Given the description of an element on the screen output the (x, y) to click on. 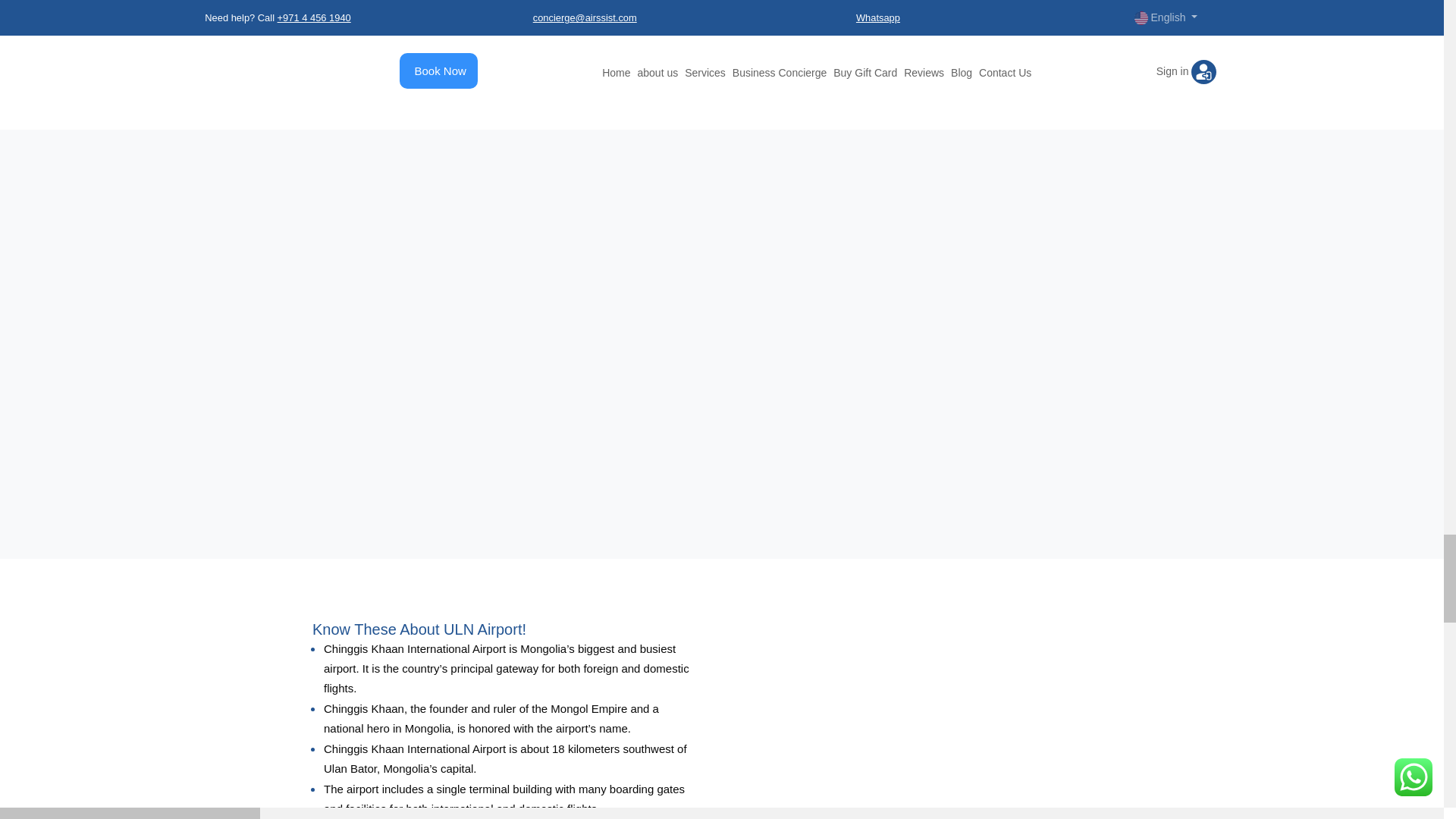
Business Lounge Access (937, 719)
